Given the description of an element on the screen output the (x, y) to click on. 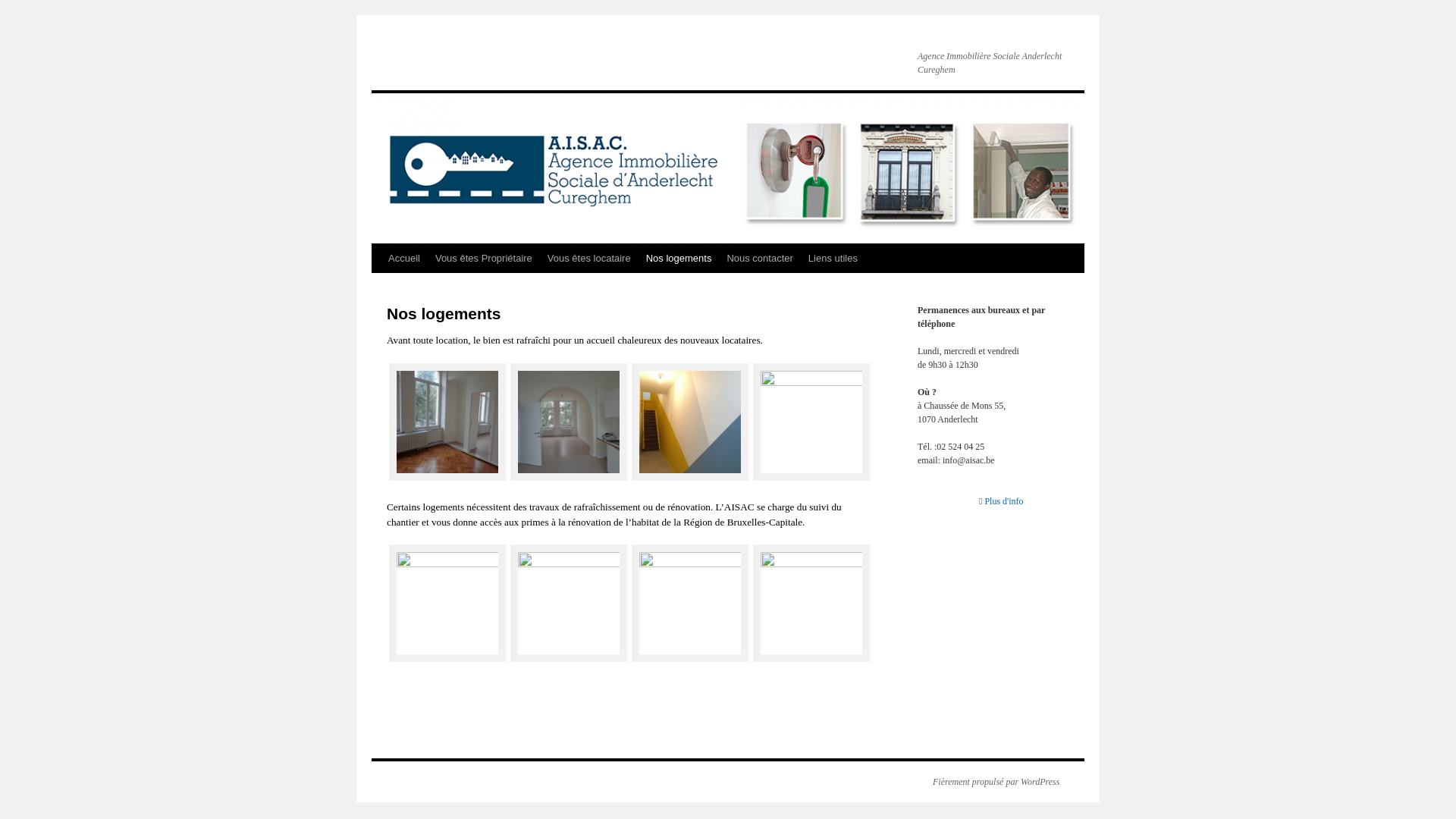
Nous contacter Element type: text (759, 258)
Liens utiles Element type: text (832, 258)
Aller au contenu Element type: text (377, 286)
Accueil Element type: text (403, 258)
Nos logements Element type: text (678, 258)
Plus d'info Element type: text (1003, 500)
